Given the description of an element on the screen output the (x, y) to click on. 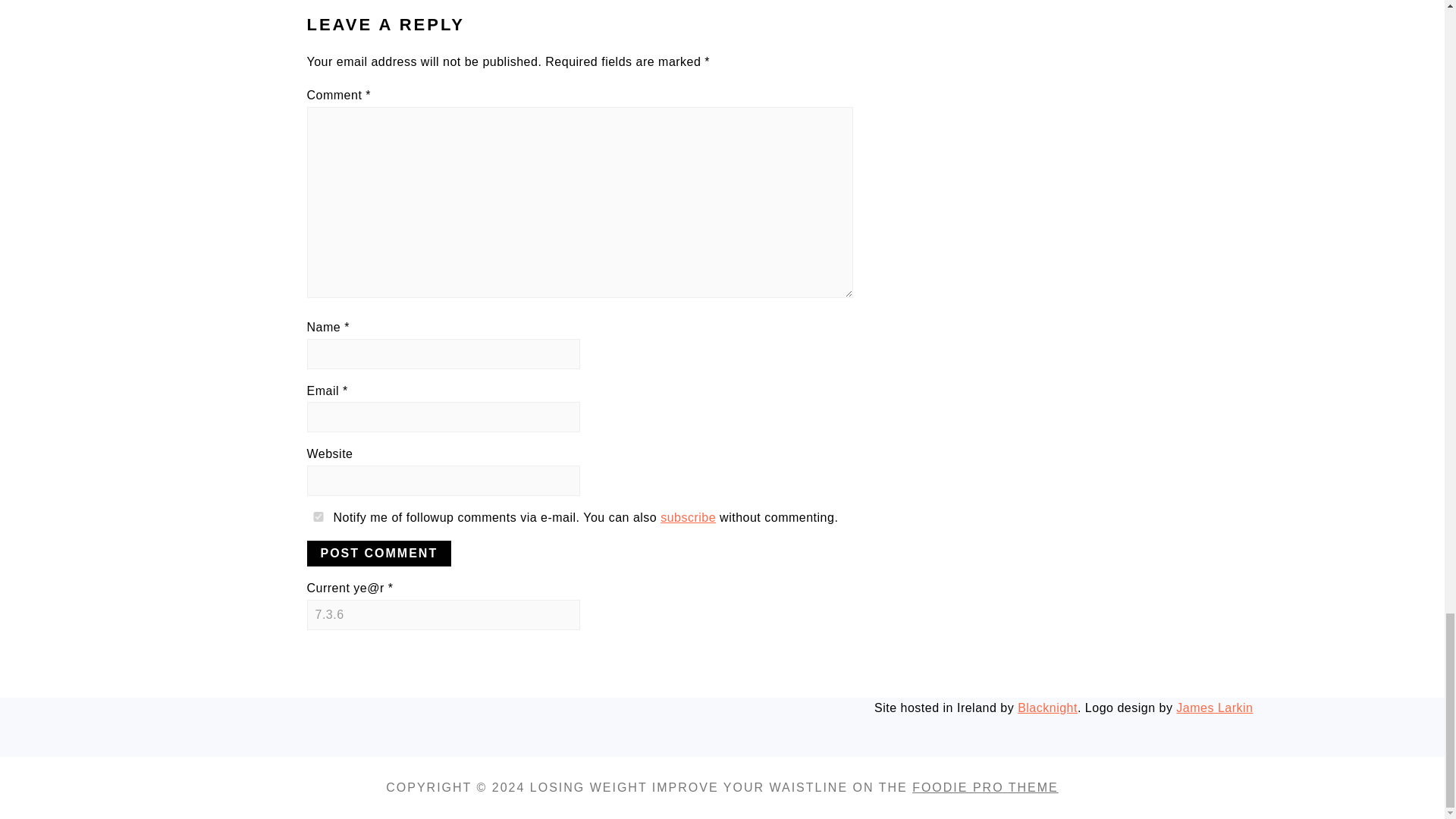
7.3.6 (442, 614)
subscribe (688, 517)
Post Comment (378, 553)
yes (317, 516)
Post Comment (378, 553)
